Given the description of an element on the screen output the (x, y) to click on. 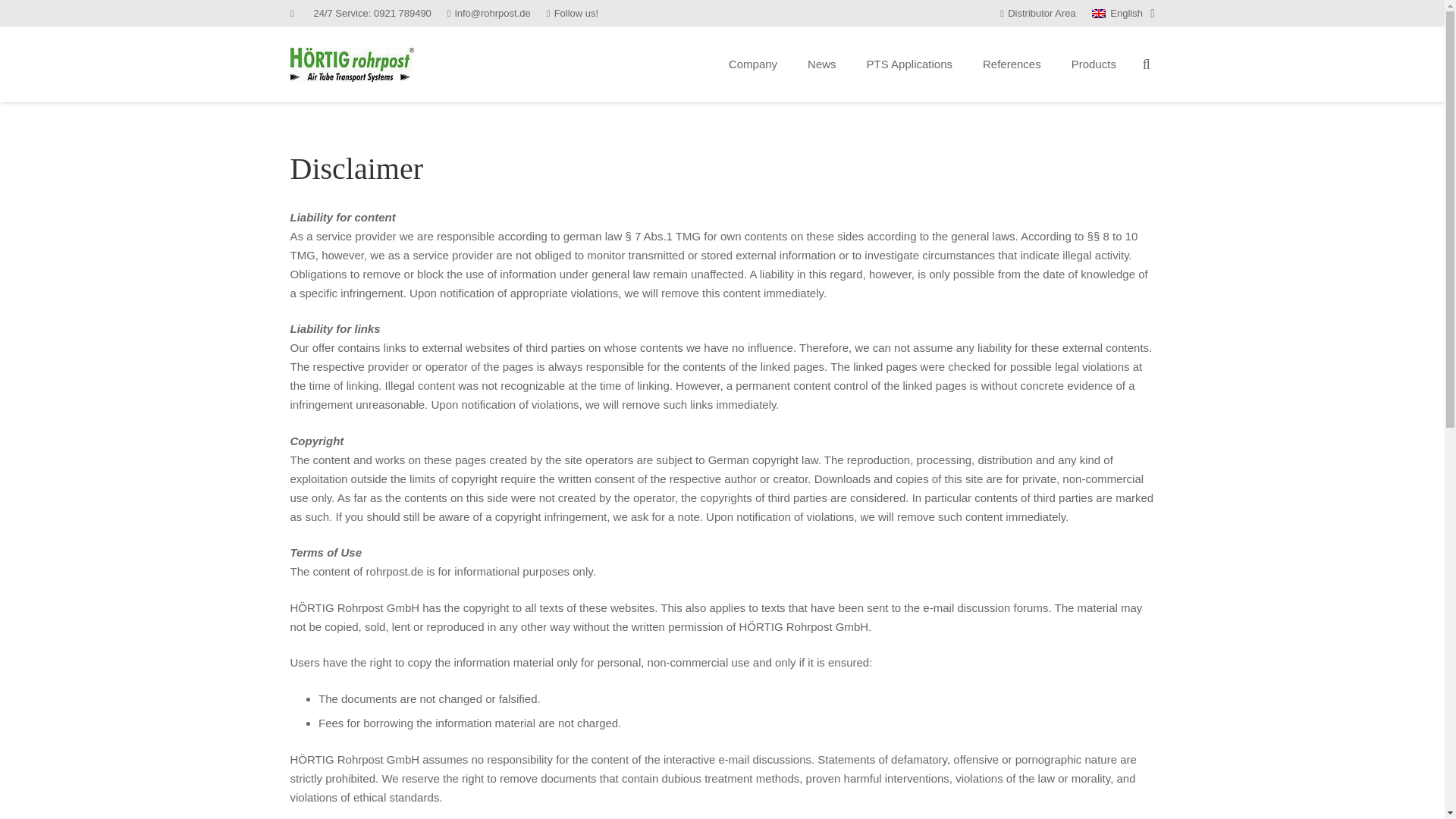
Company (752, 64)
Follow us! (572, 12)
References (1012, 64)
Distributor Area (1037, 12)
Products (1094, 64)
0921 789490 (402, 12)
English (1122, 12)
PTS Applications (909, 64)
